Given the description of an element on the screen output the (x, y) to click on. 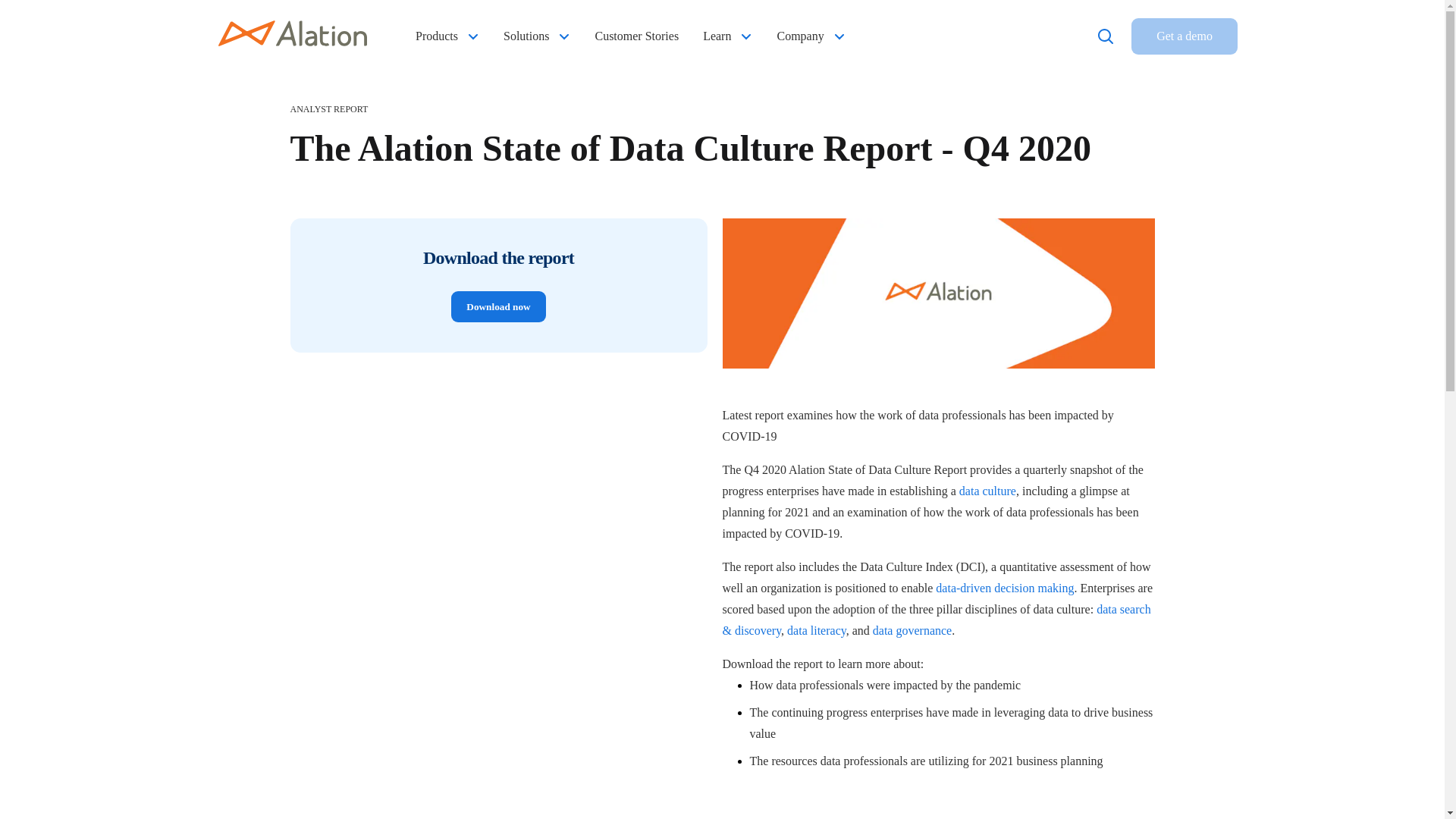
Customer Stories (636, 35)
